Given the description of an element on the screen output the (x, y) to click on. 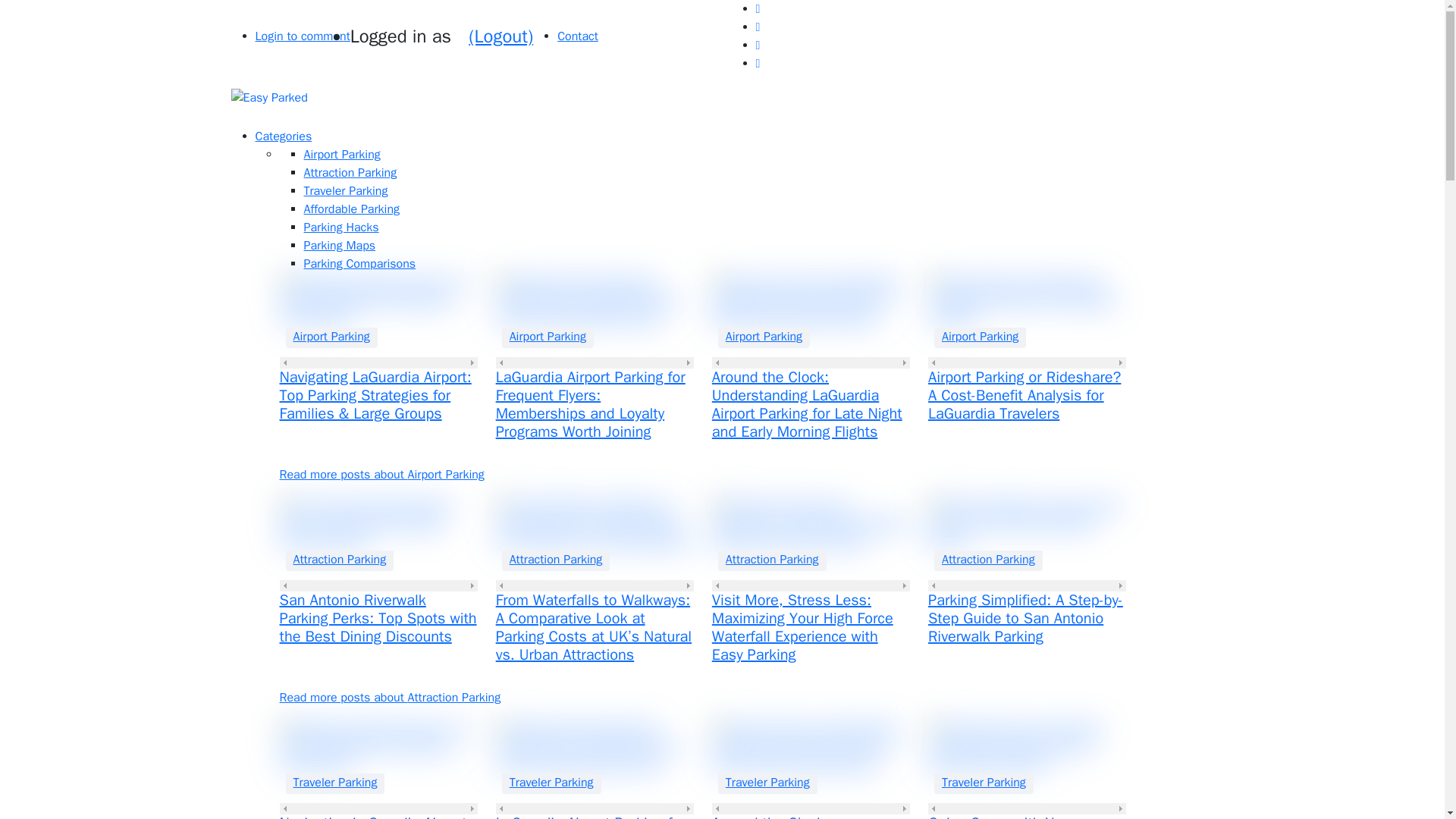
Airport Parking (763, 336)
Airport Parking (980, 336)
Login to comment (301, 36)
Airport Parking (341, 154)
Categories (282, 136)
Parking Hacks (340, 227)
Parking Comparisons (358, 263)
